Given the description of an element on the screen output the (x, y) to click on. 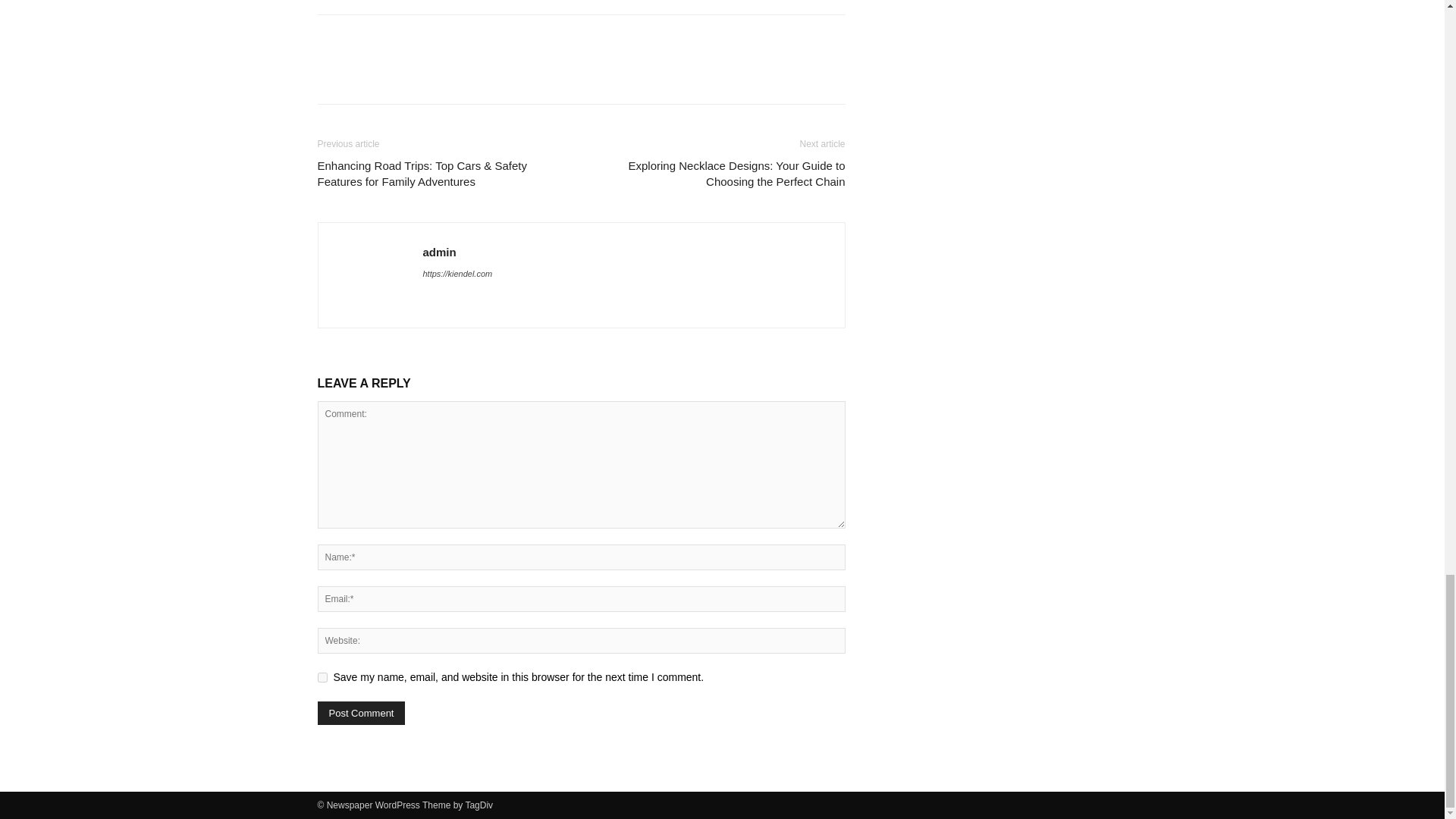
yes (321, 677)
Post Comment (360, 712)
bottomFacebookLike (430, 38)
Post Comment (360, 712)
admin (440, 251)
